Given the description of an element on the screen output the (x, y) to click on. 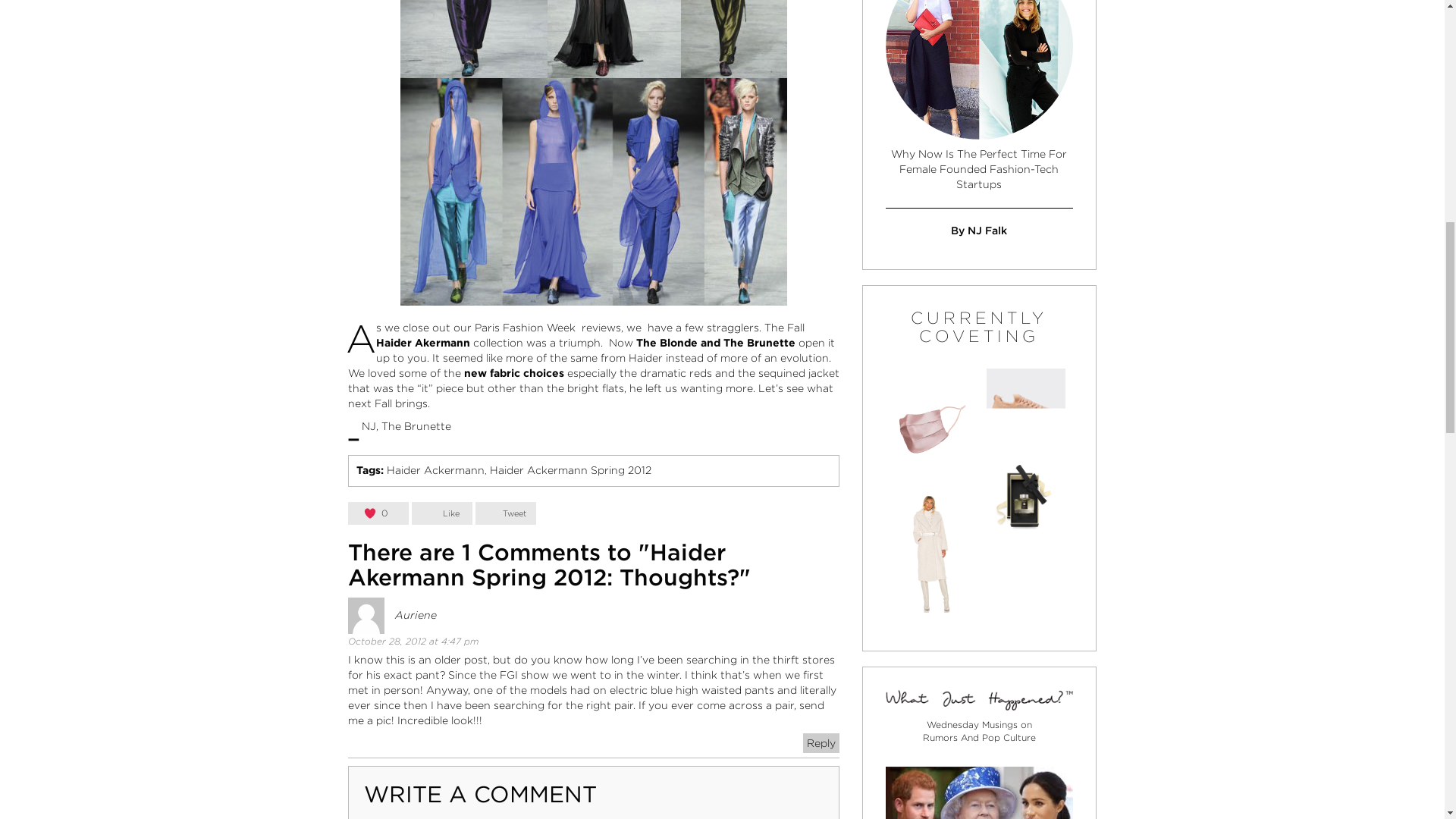
haider-ackerman-sp12 (593, 152)
Share on Facebook (441, 513)
Share on Twitter (505, 513)
